Given the description of an element on the screen output the (x, y) to click on. 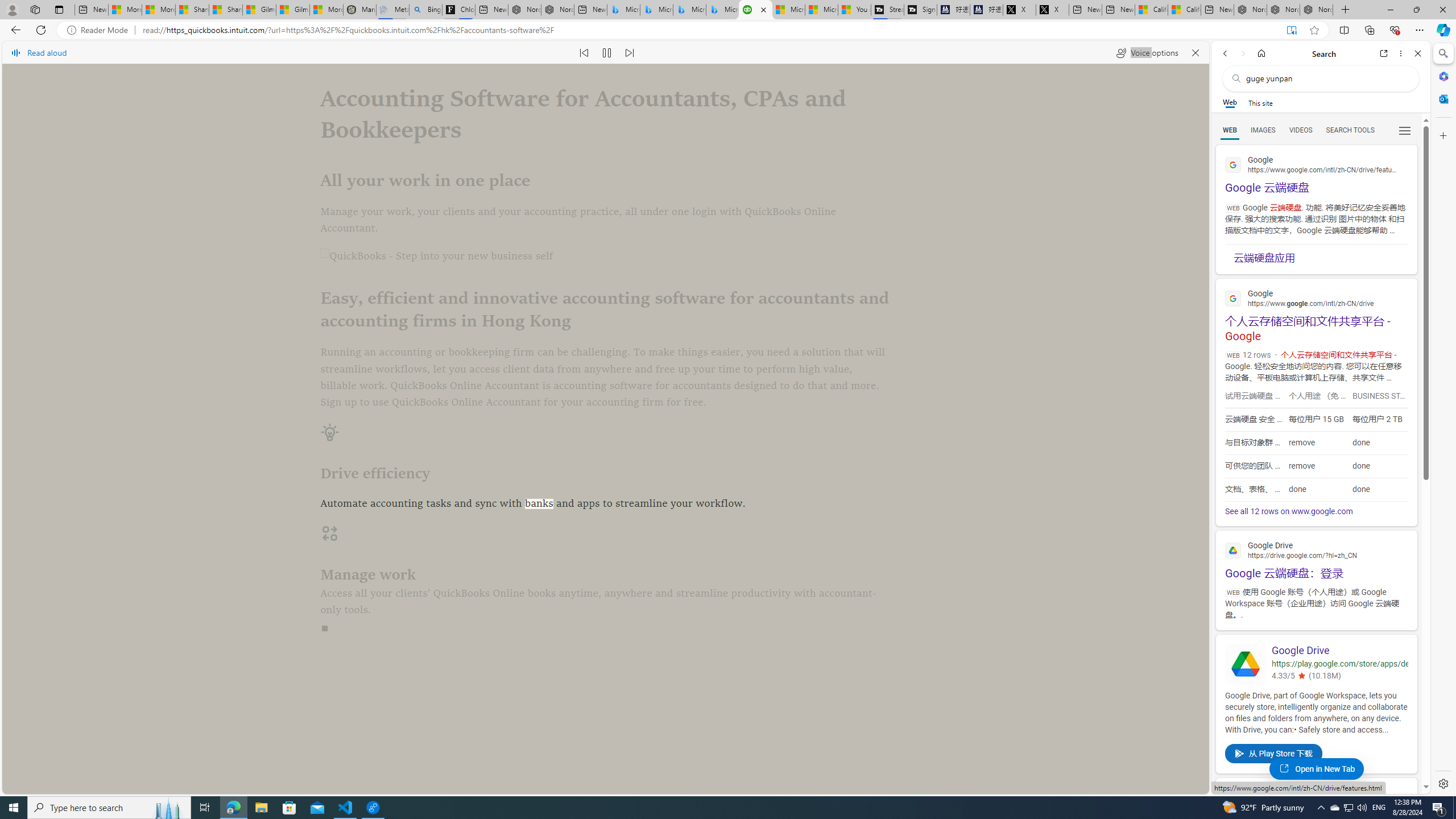
4.334164619445801 (1300, 675)
Close read aloud (1195, 52)
Microsoft Bing Travel - Stays in Bangkok, Bangkok, Thailand (656, 9)
Side bar (1443, 418)
Google Drive (1339, 650)
Search the web (1326, 78)
Search Filter, Search Tools (1350, 129)
Manatee Mortality Statistics | FWC (359, 9)
Search Filter, IMAGES (1262, 129)
